Given the description of an element on the screen output the (x, y) to click on. 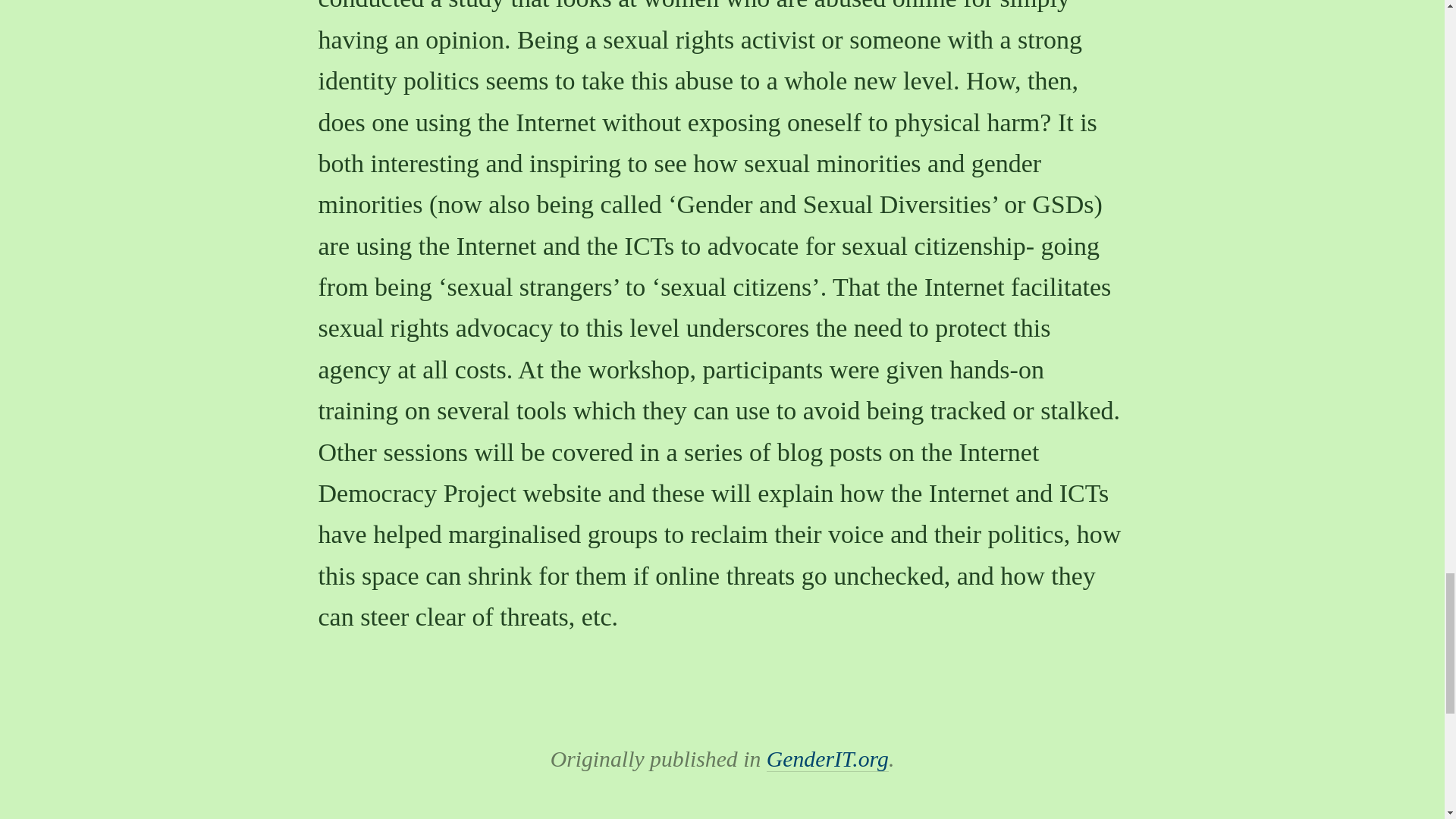
GenderIT.org (827, 759)
